Given the description of an element on the screen output the (x, y) to click on. 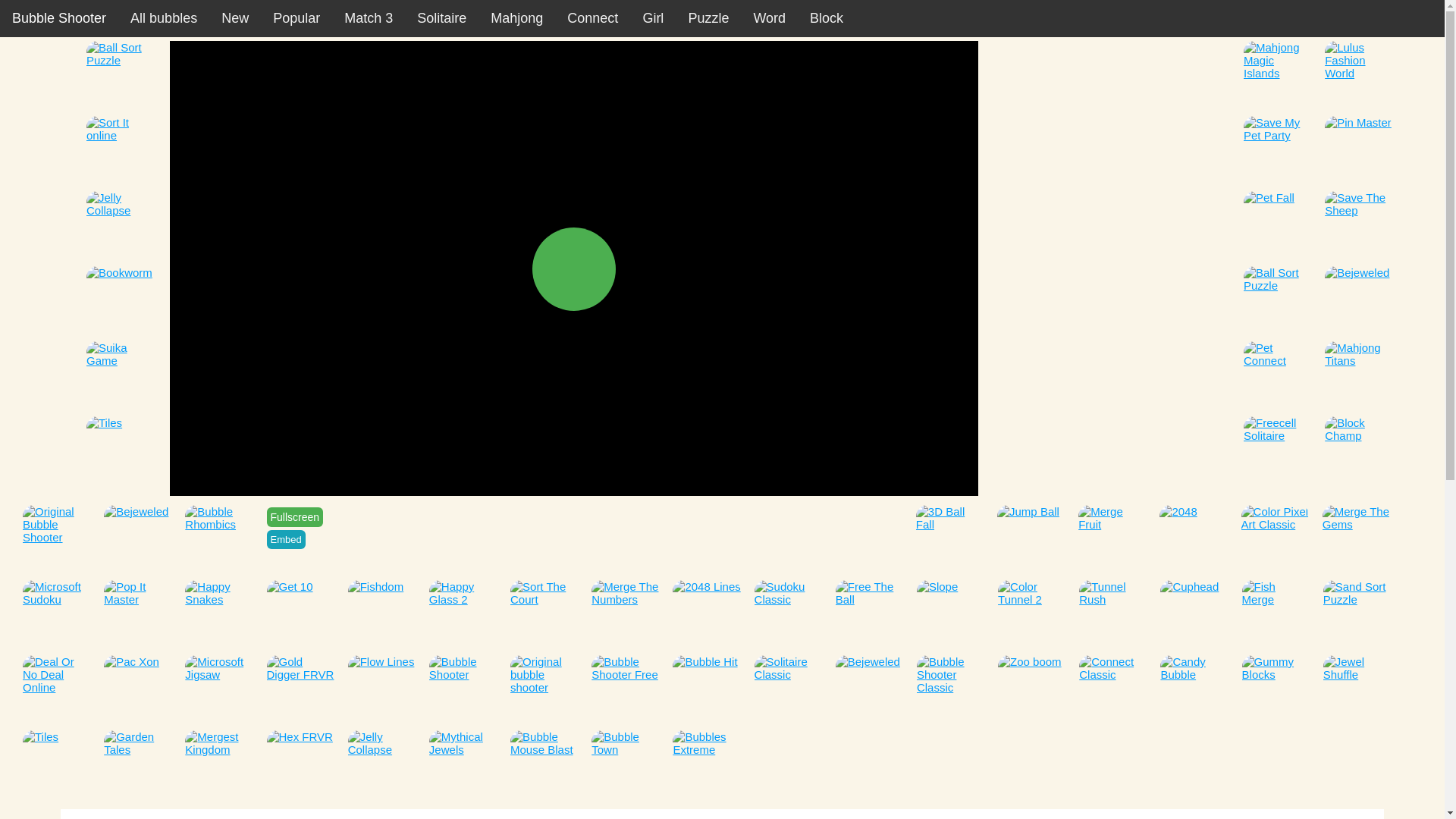
Puzzle (708, 18)
Match 3 (367, 18)
Bookworm (119, 300)
Pet Connect (1277, 375)
Bejeweled (137, 539)
Fullscreen (294, 516)
Tiles (119, 450)
Save The Sheep (1358, 224)
Pin Master (1358, 150)
Sort It online (119, 150)
